Given the description of an element on the screen output the (x, y) to click on. 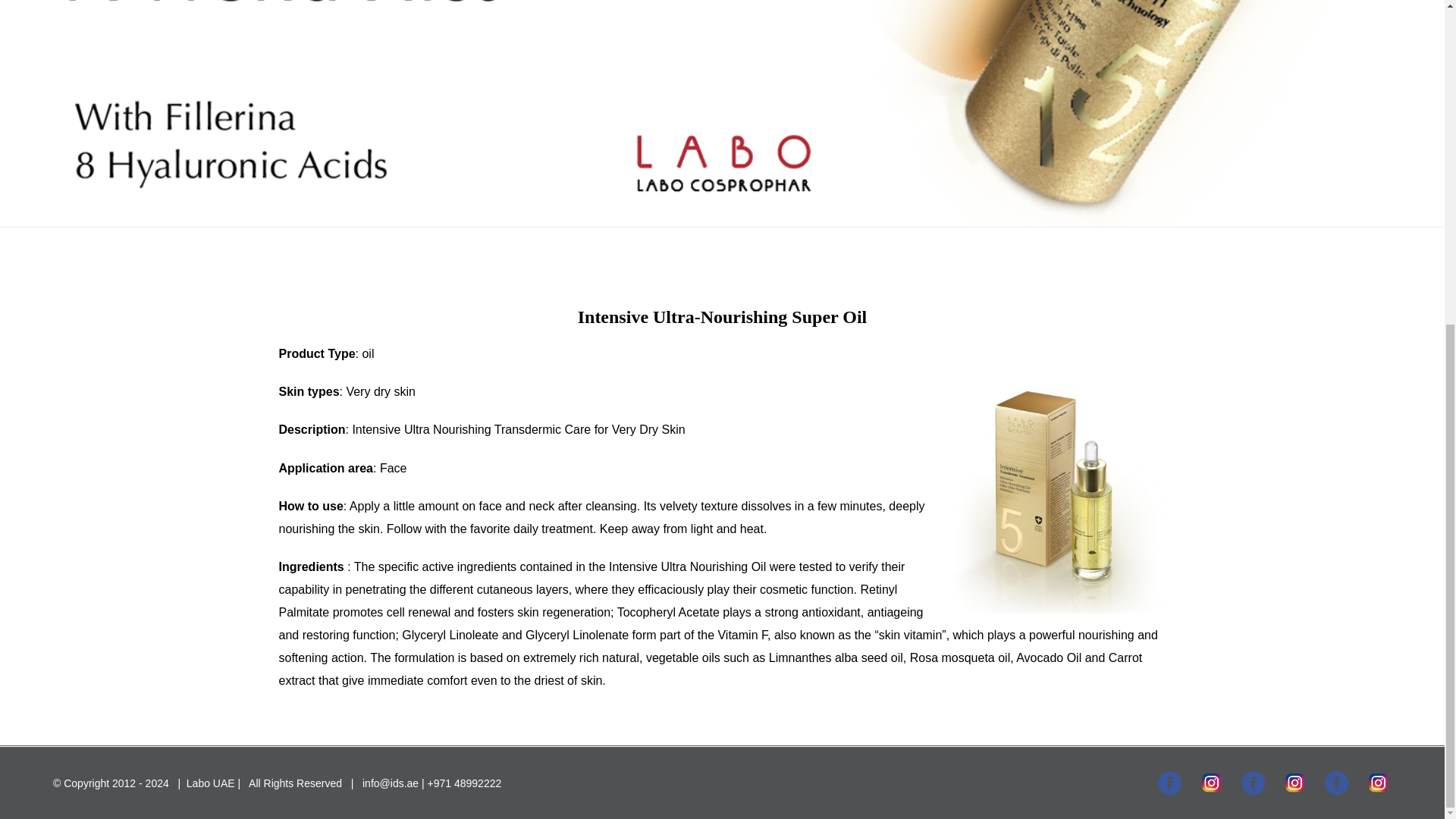
Crescina (1294, 782)
Fillerina (1211, 782)
LaboTransdermic (1378, 782)
Crescina (1253, 782)
Fillerina (1169, 782)
LaboTransdermic (1336, 782)
